Given the description of an element on the screen output the (x, y) to click on. 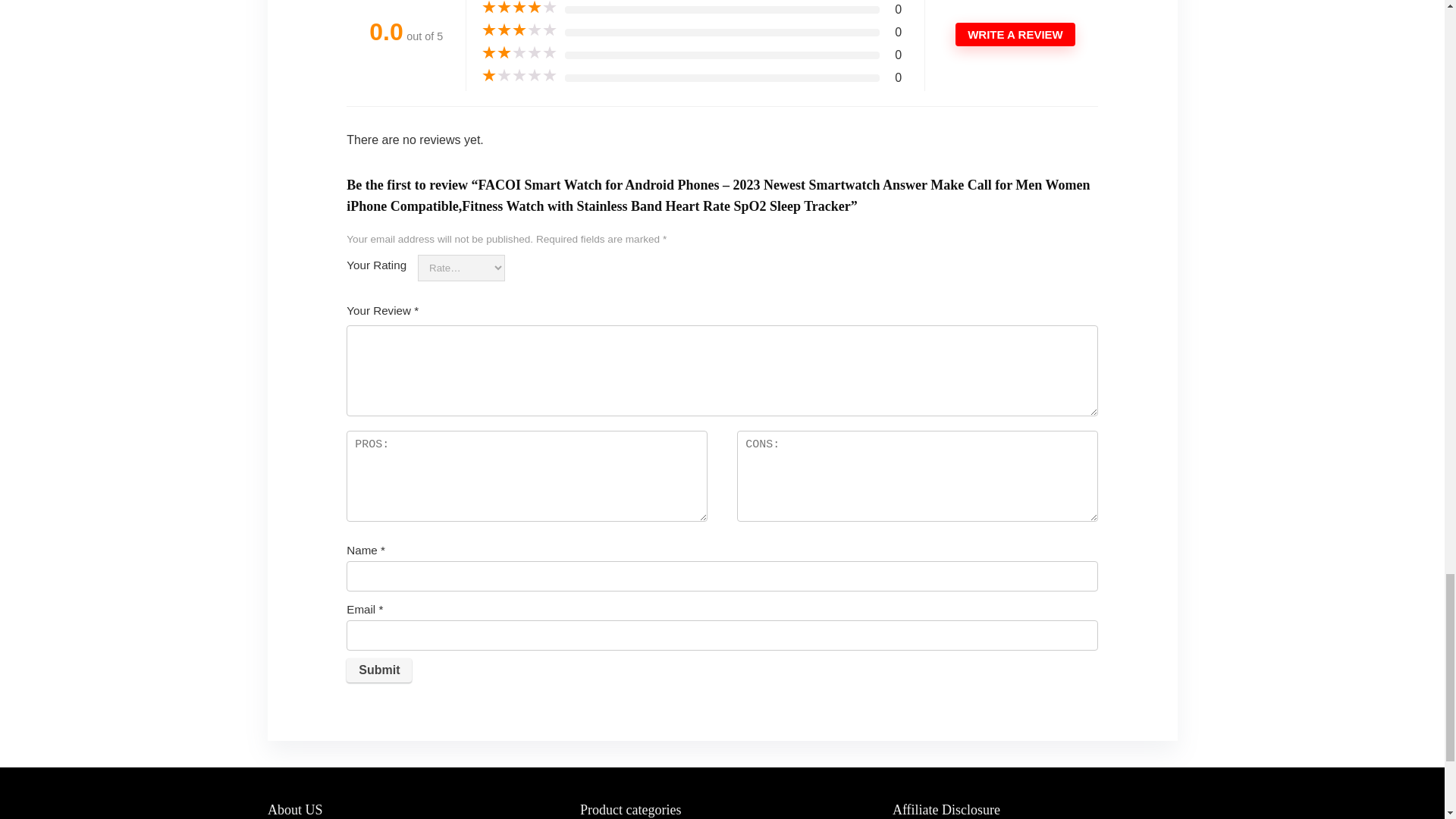
Rated 4 out of 5 (519, 7)
WRITE A REVIEW (1015, 33)
Submit (379, 670)
